Given the description of an element on the screen output the (x, y) to click on. 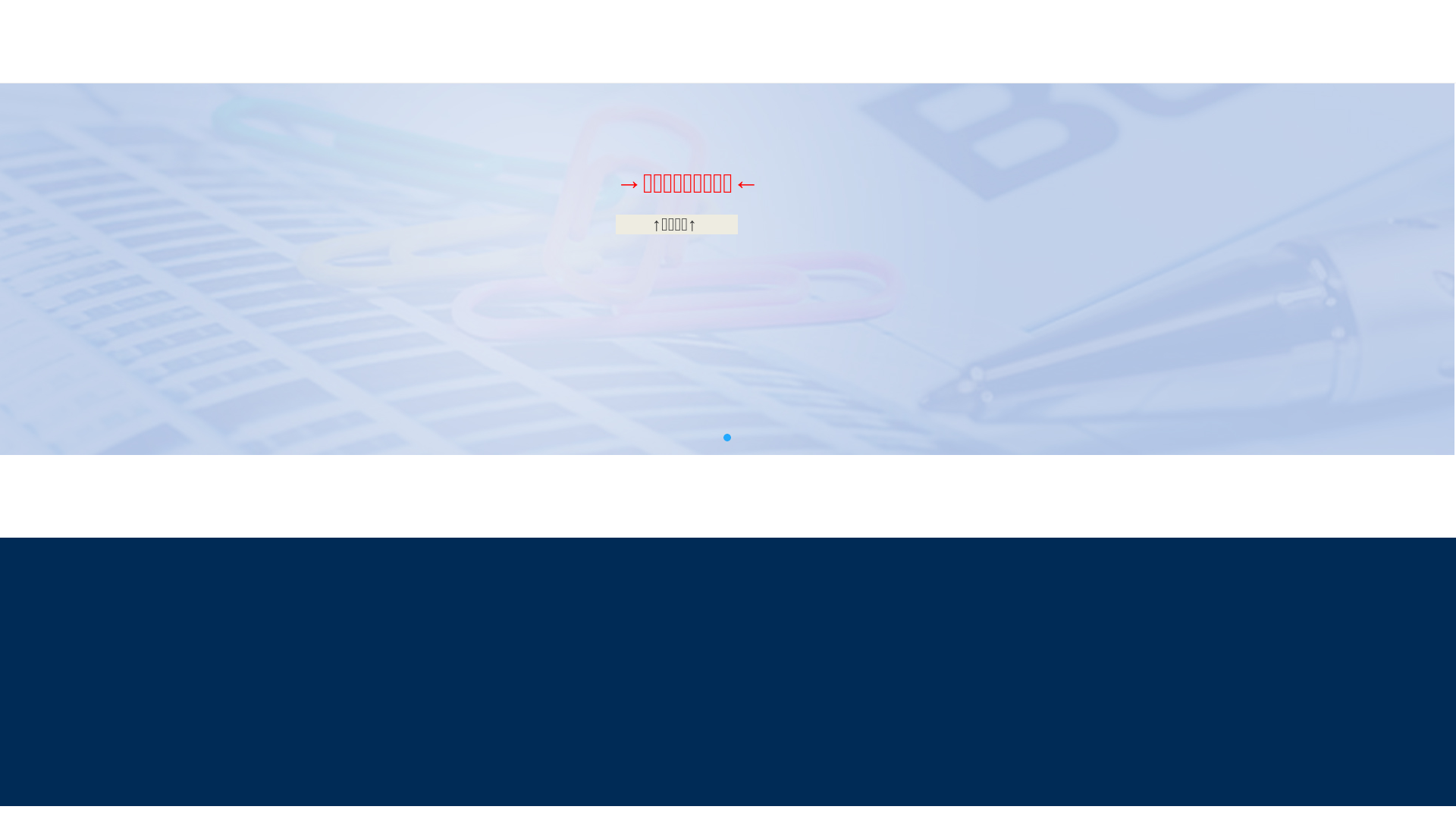
1 Element type: text (726, 437)
